Given the description of an element on the screen output the (x, y) to click on. 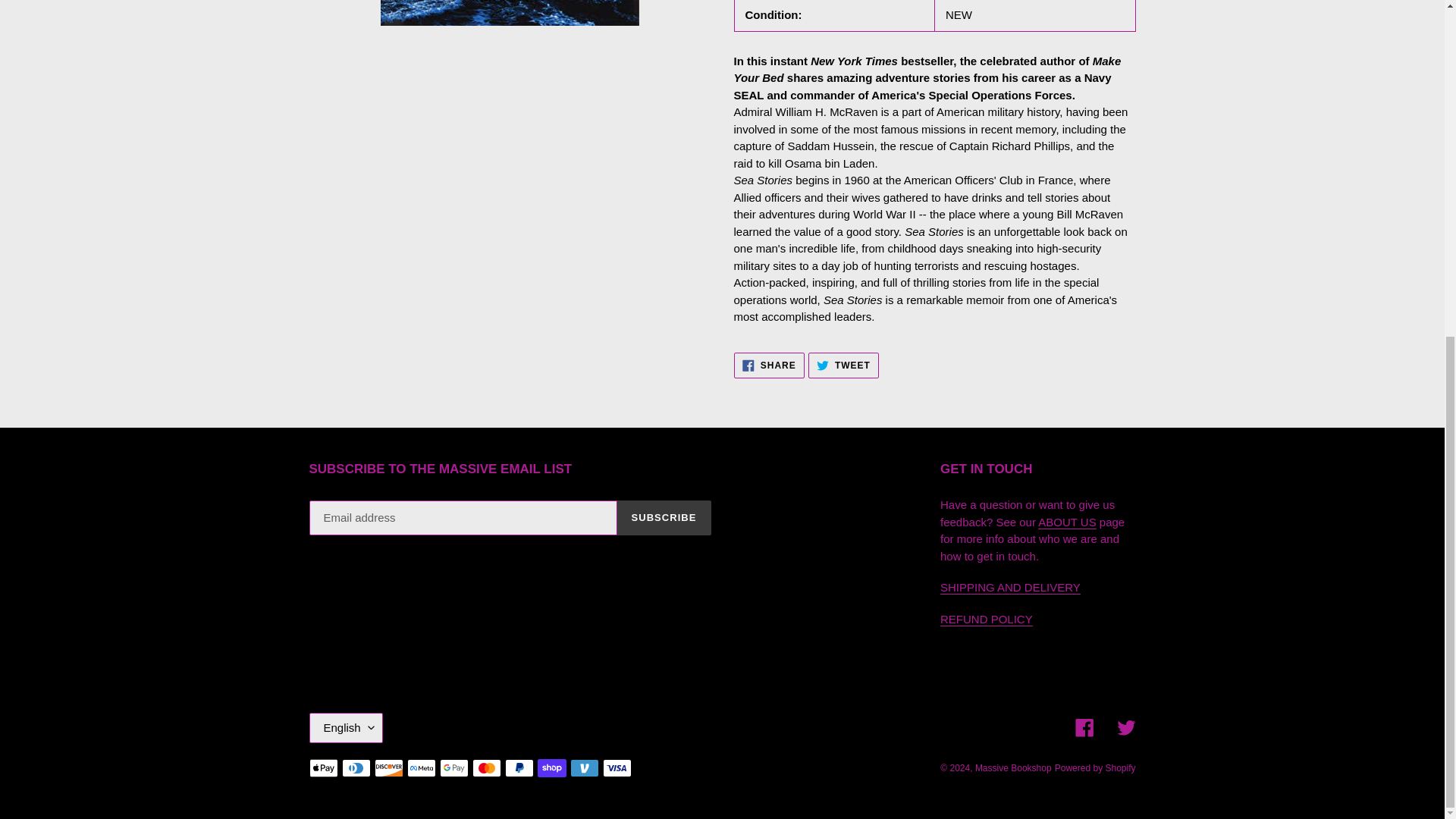
Refund Policy (986, 619)
Facebook (1084, 727)
Massive Bookshop (1013, 767)
Twitter (1125, 727)
Shipping Policy (769, 365)
WELCOME TO OUR MASSIVE BOOKSHOP (1010, 587)
Powered by Shopify (1067, 522)
English (1094, 767)
REFUND POLICY (345, 727)
ABOUT US (843, 365)
SUBSCRIBE (986, 619)
SHIPPING AND DELIVERY (1067, 522)
